Given the description of an element on the screen output the (x, y) to click on. 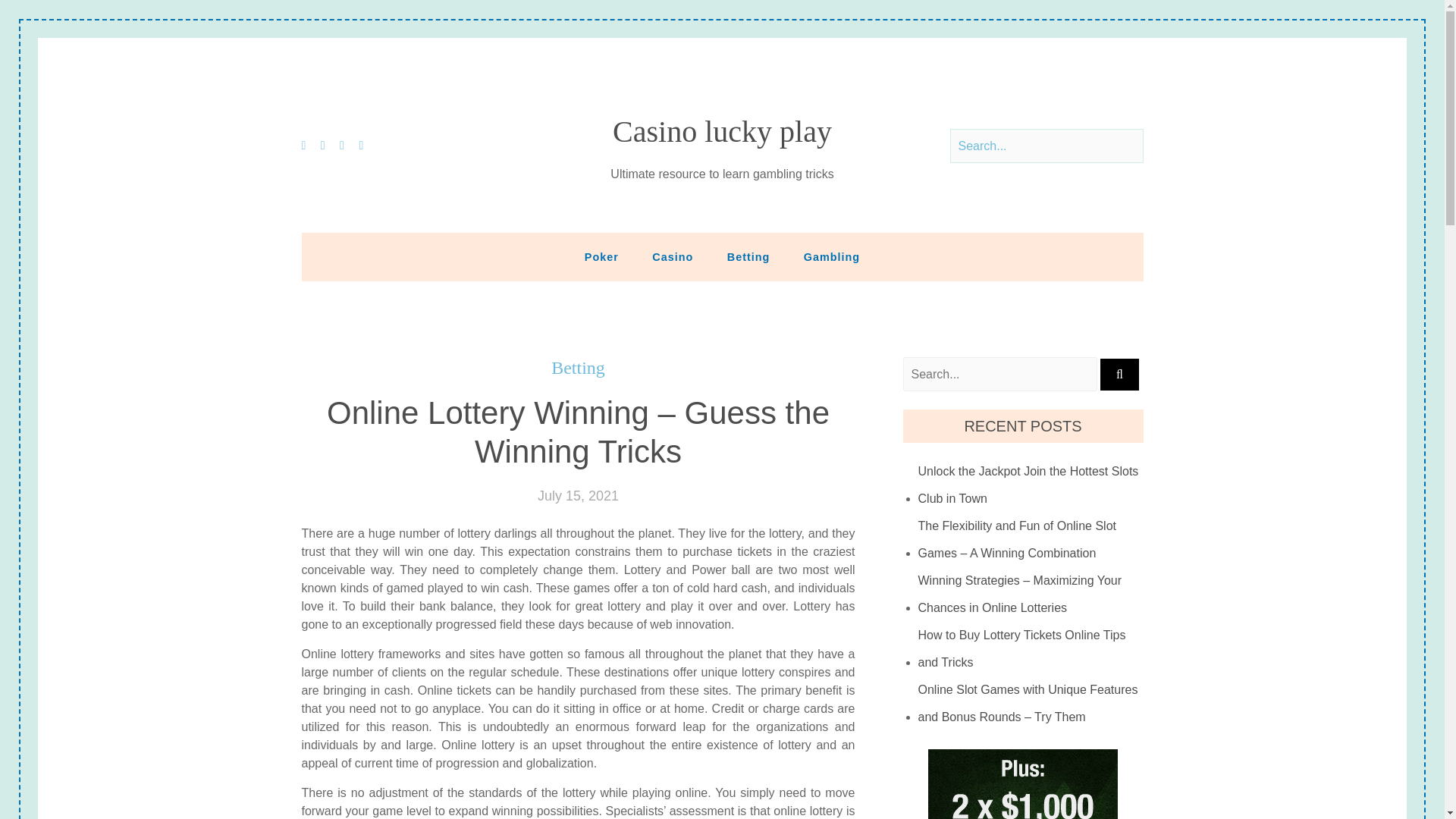
Poker (601, 256)
Gambling (832, 256)
July 15, 2021 (577, 496)
Unlock the Jackpot Join the Hottest Slots Club in Town (1030, 484)
Betting (748, 256)
Betting (578, 368)
How to Buy Lottery Tickets Online Tips and Tricks (1030, 648)
Casino (672, 256)
Casino lucky play (721, 131)
